Given the description of an element on the screen output the (x, y) to click on. 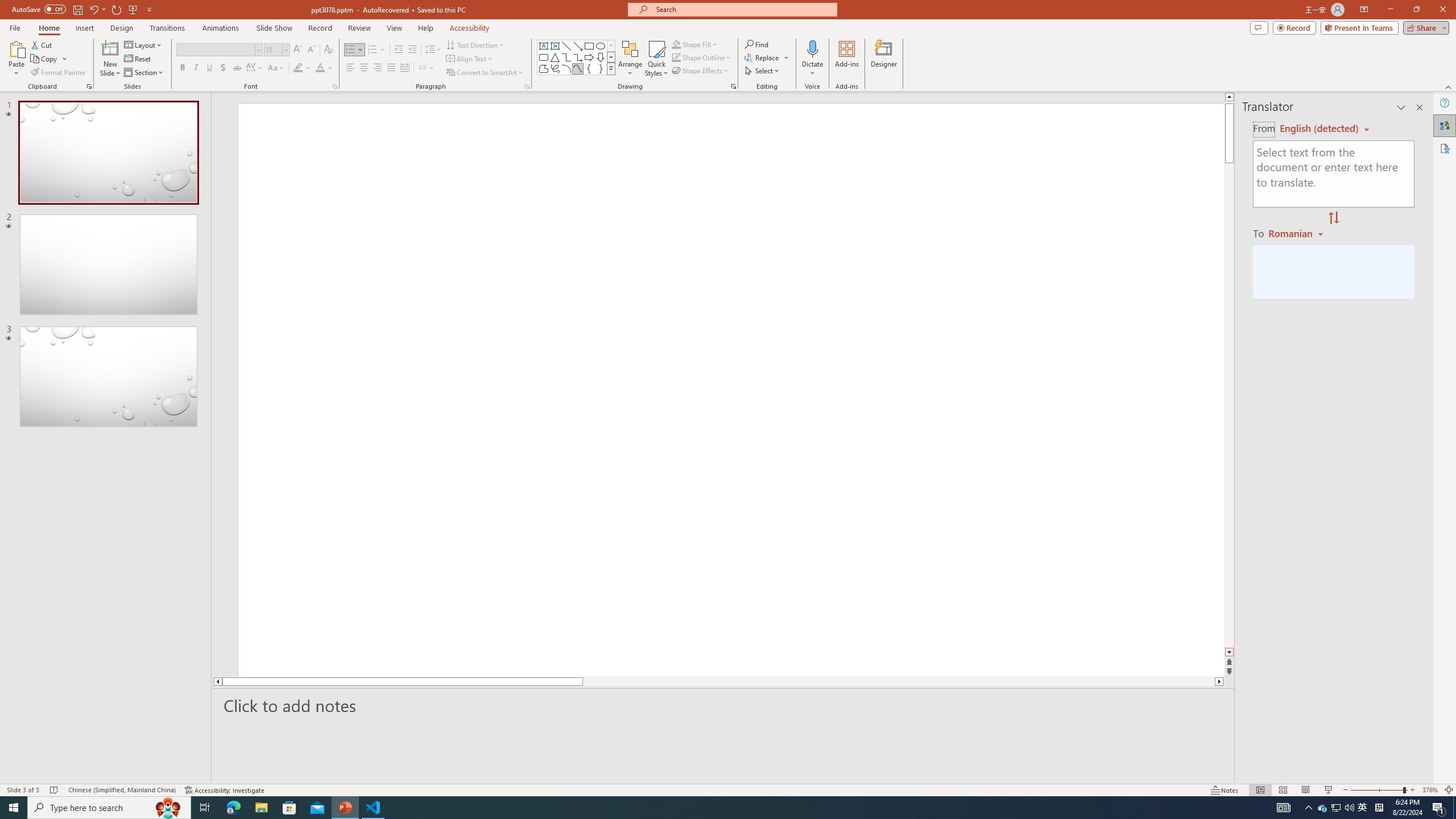
Accessibility (1444, 147)
Change Case (276, 67)
Arrange (630, 58)
